Given the description of an element on the screen output the (x, y) to click on. 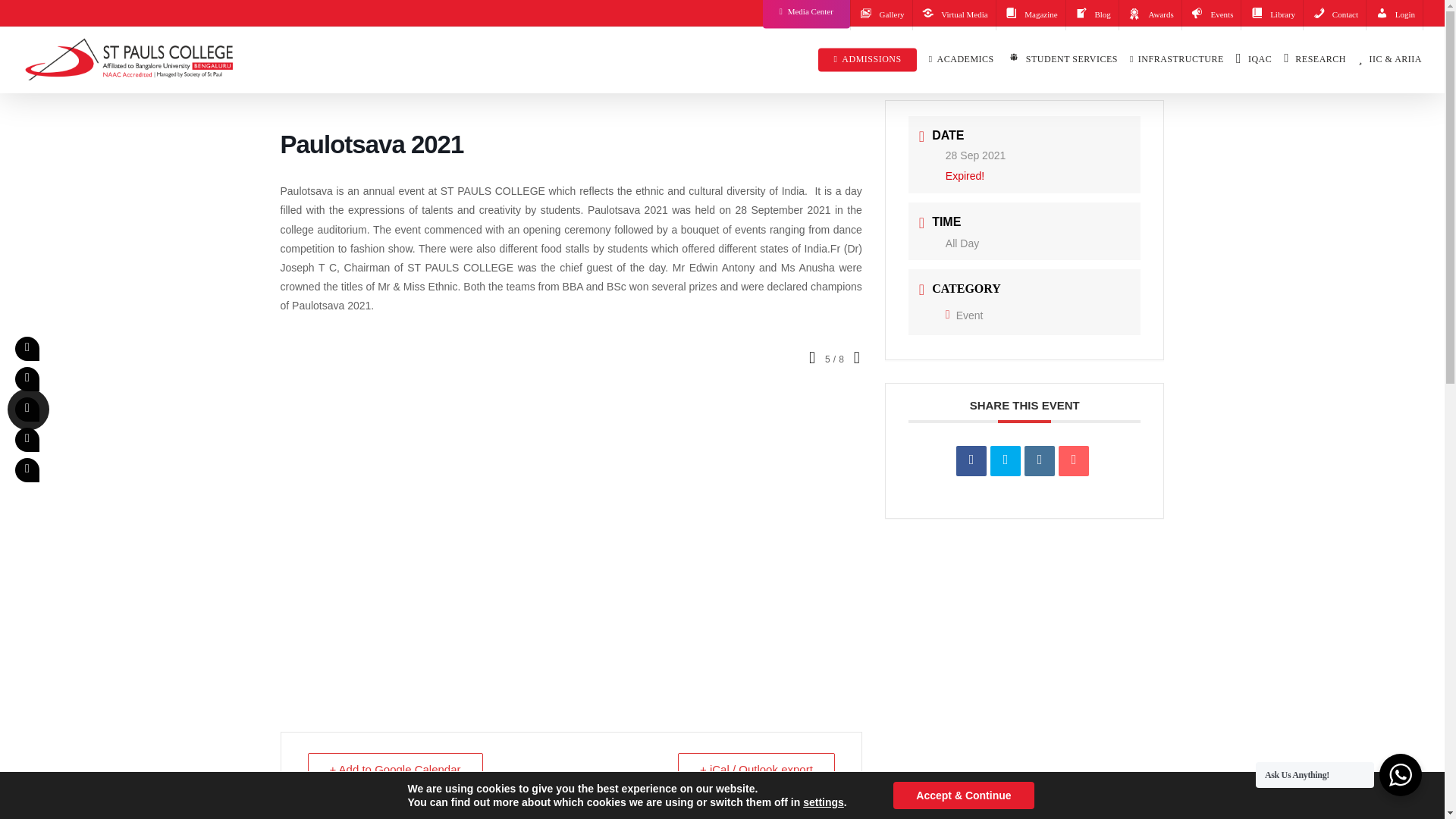
Blog (1091, 15)
Contact (1334, 15)
Instagram (26, 409)
ADMISSIONS (866, 59)
Events (1210, 15)
Email (1073, 460)
Facebook (26, 348)
Youtube (26, 378)
Virtual Media (953, 15)
Awards (1149, 15)
Magazine (1030, 15)
Tweet (1005, 460)
Phone (26, 439)
Share on Facebook (971, 460)
Gallery (881, 15)
